Given the description of an element on the screen output the (x, y) to click on. 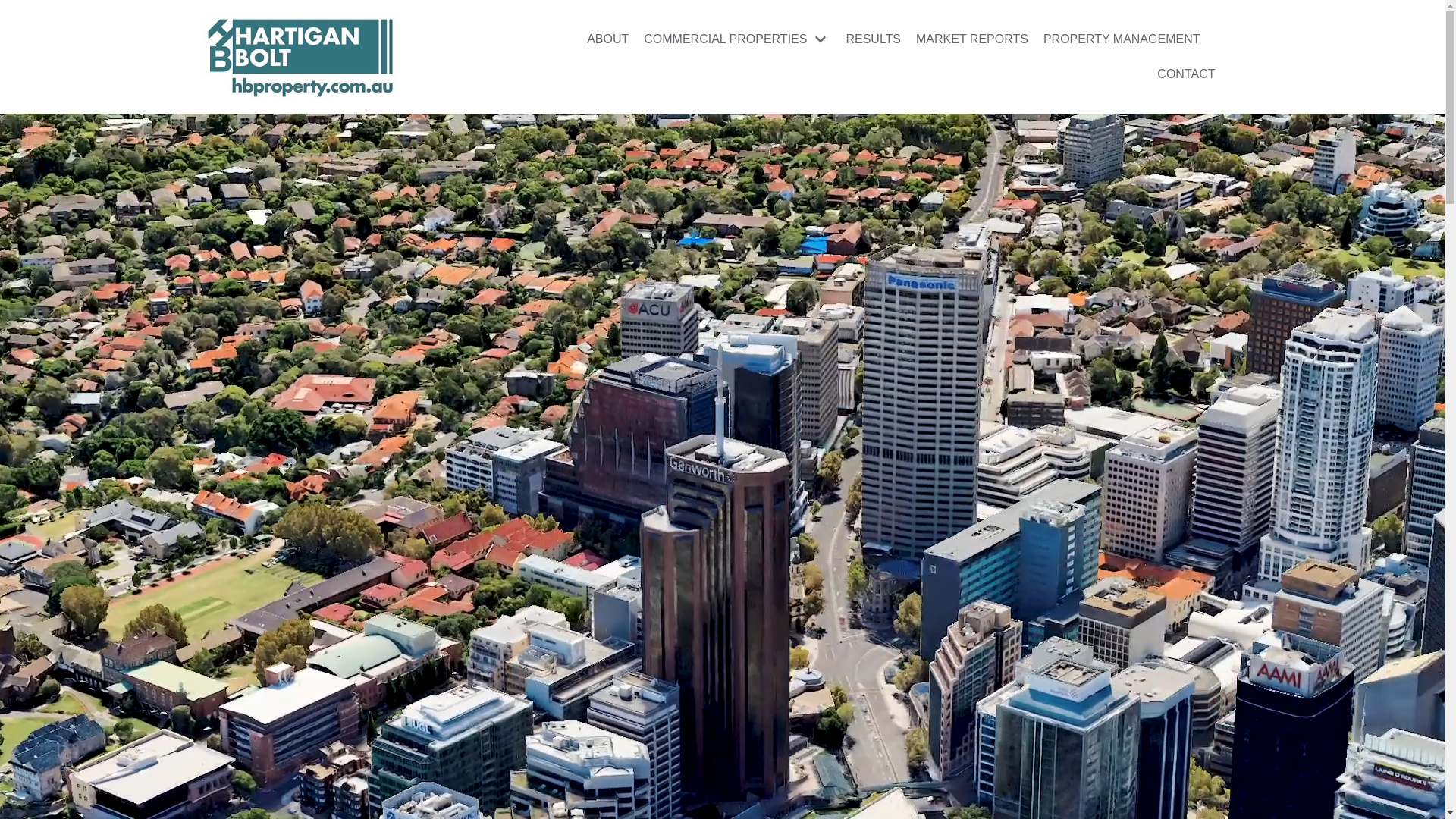
CONTACT Element type: text (1185, 74)
HB Property Element type: hover (300, 56)
ABOUT Element type: text (607, 39)
RESULTS Element type: text (872, 39)
MARKET REPORTS Element type: text (972, 39)
PROPERTY MANAGEMENT Element type: text (1121, 39)
Skip to content Element type: text (15, 7)
COMMERCIAL PROPERTIES Element type: text (736, 39)
